Given the description of an element on the screen output the (x, y) to click on. 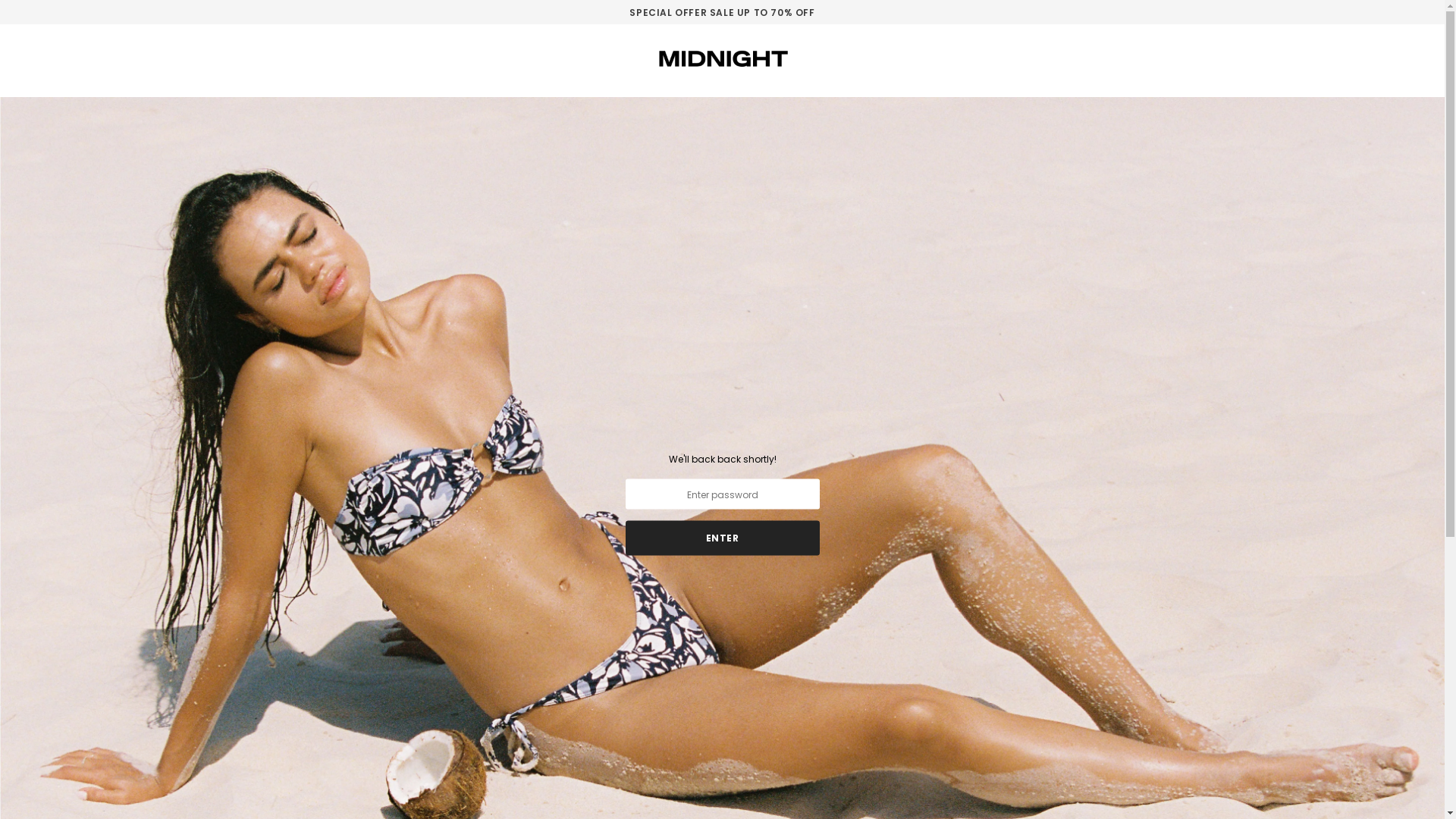
Enter Element type: text (721, 537)
Logo Element type: hover (721, 58)
